Given the description of an element on the screen output the (x, y) to click on. 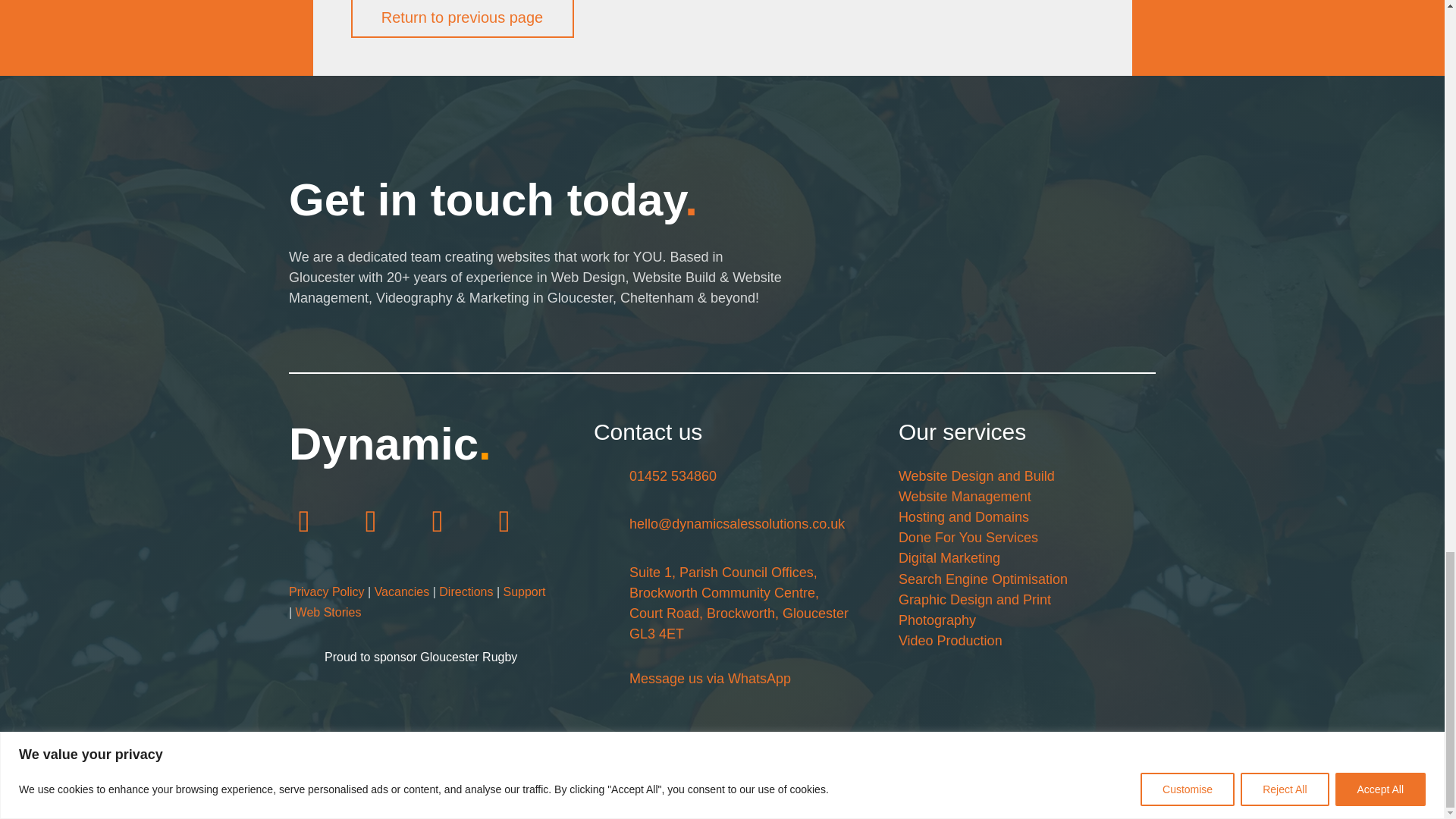
Follow on Youtube (504, 520)
Follow on LinkedIn (437, 520)
Follow on Facebook (303, 520)
Follow on Instagram (370, 520)
